Given the description of an element on the screen output the (x, y) to click on. 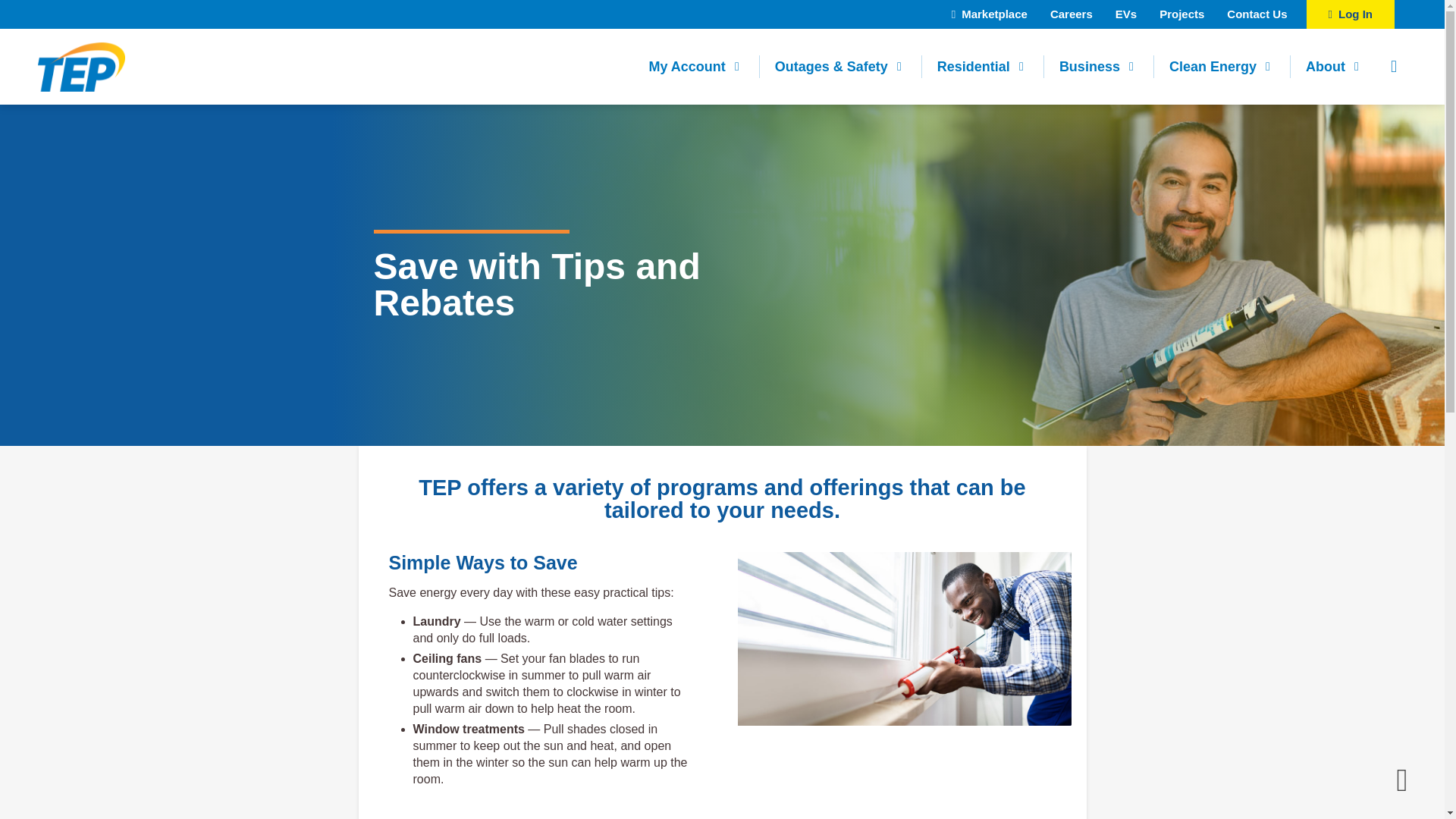
Marketplace (989, 14)
Projects (1181, 14)
residential-energy-saving-tips-homepage-mobile (903, 638)
Contact Us (1257, 14)
Back to top (1401, 776)
Careers (1071, 14)
Log In (1350, 14)
My Account (695, 66)
